Given the description of an element on the screen output the (x, y) to click on. 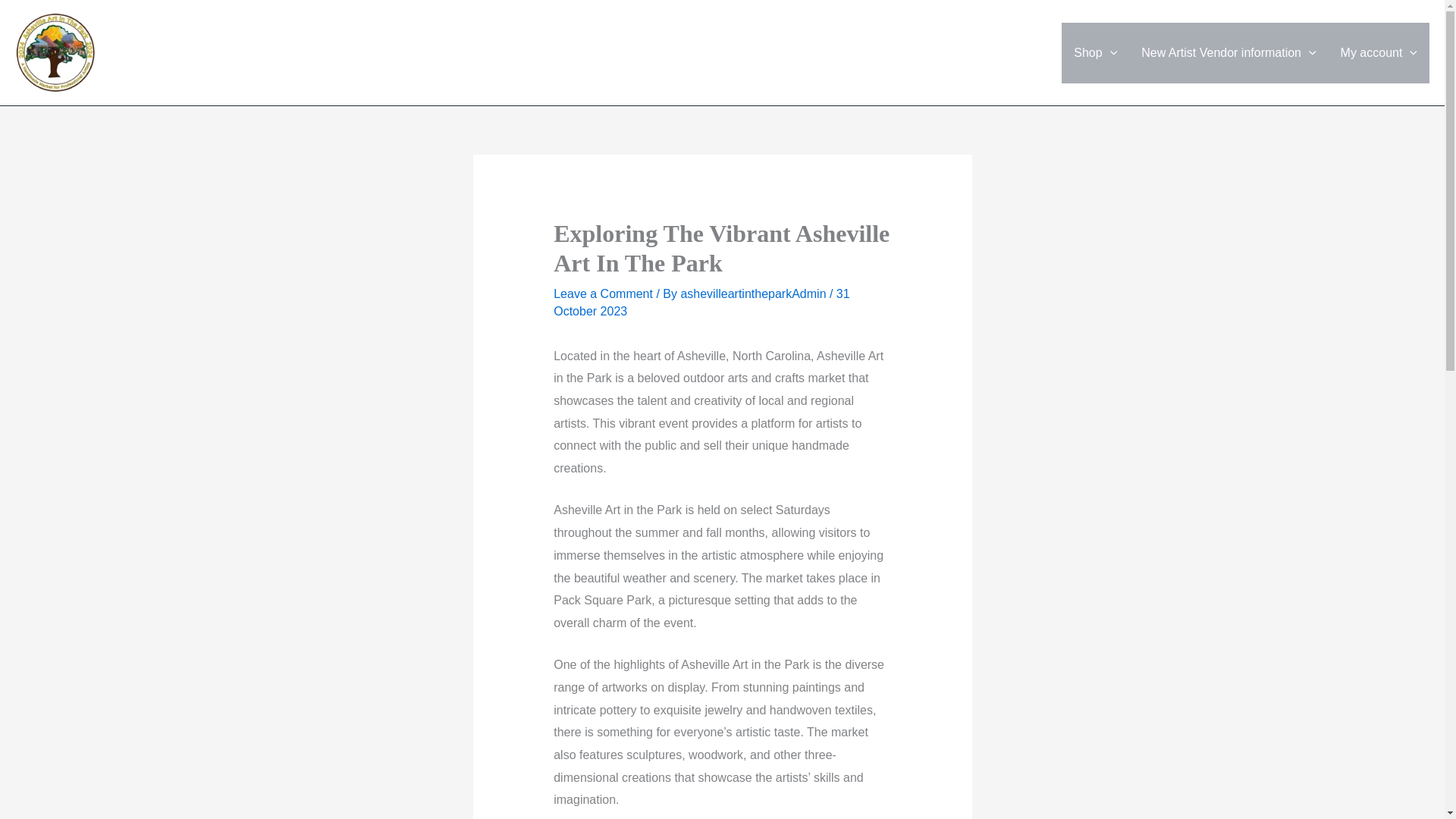
ashevilleartintheparkAdmin (754, 293)
My account (1378, 52)
View all posts by ashevilleartintheparkAdmin (754, 293)
Asheville Art In The Park (220, 43)
Shop (1095, 52)
Leave a Comment (602, 293)
New Artist Vendor information (1228, 52)
